Given the description of an element on the screen output the (x, y) to click on. 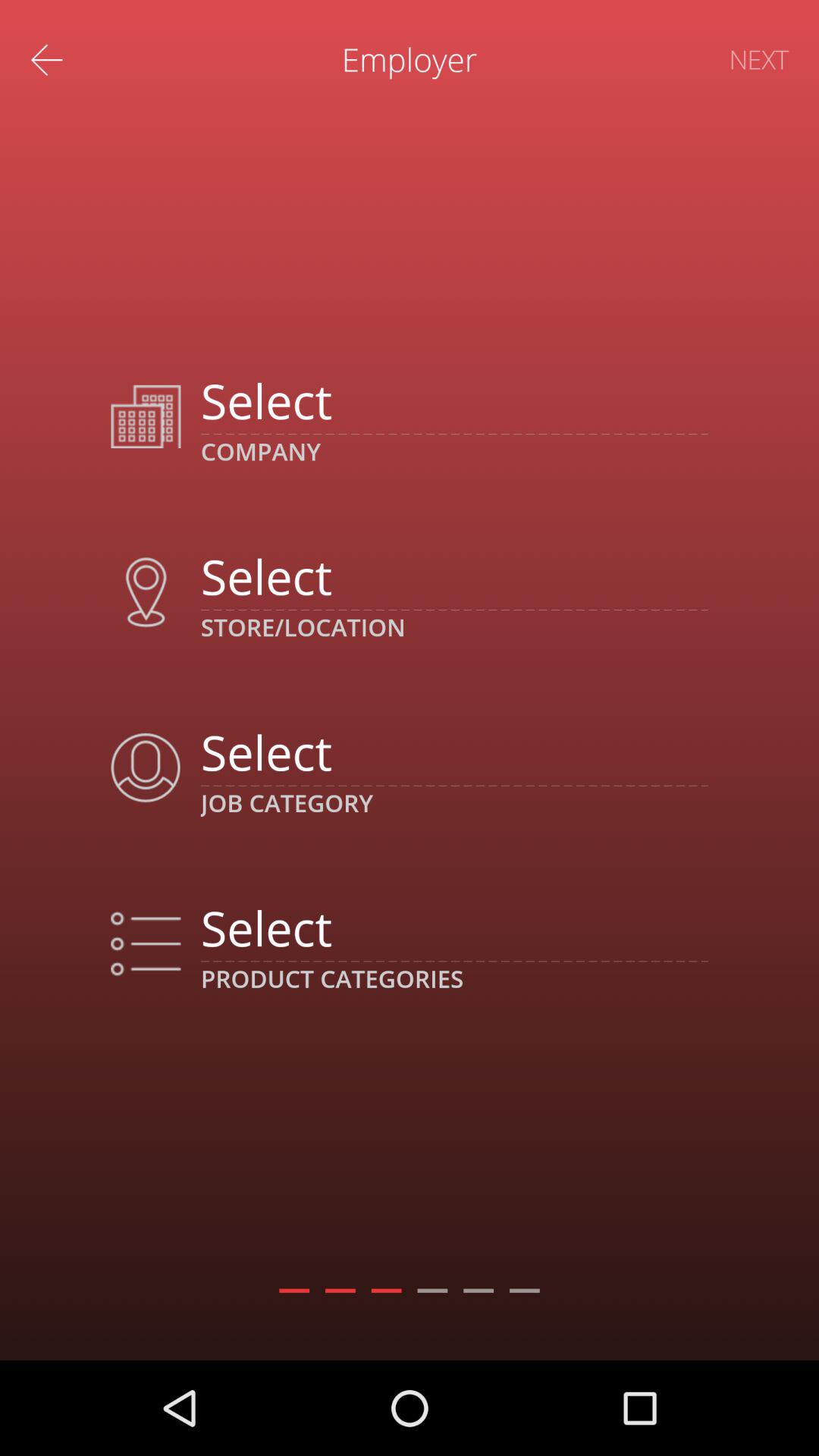
go to select storelocation (454, 575)
click on the location icon (145, 592)
select the icon next to select (145, 943)
select the icon in the fourth option (145, 943)
click on the image which is next to first select (145, 416)
select the icon which is in third row next to job category (145, 768)
